Given the description of an element on the screen output the (x, y) to click on. 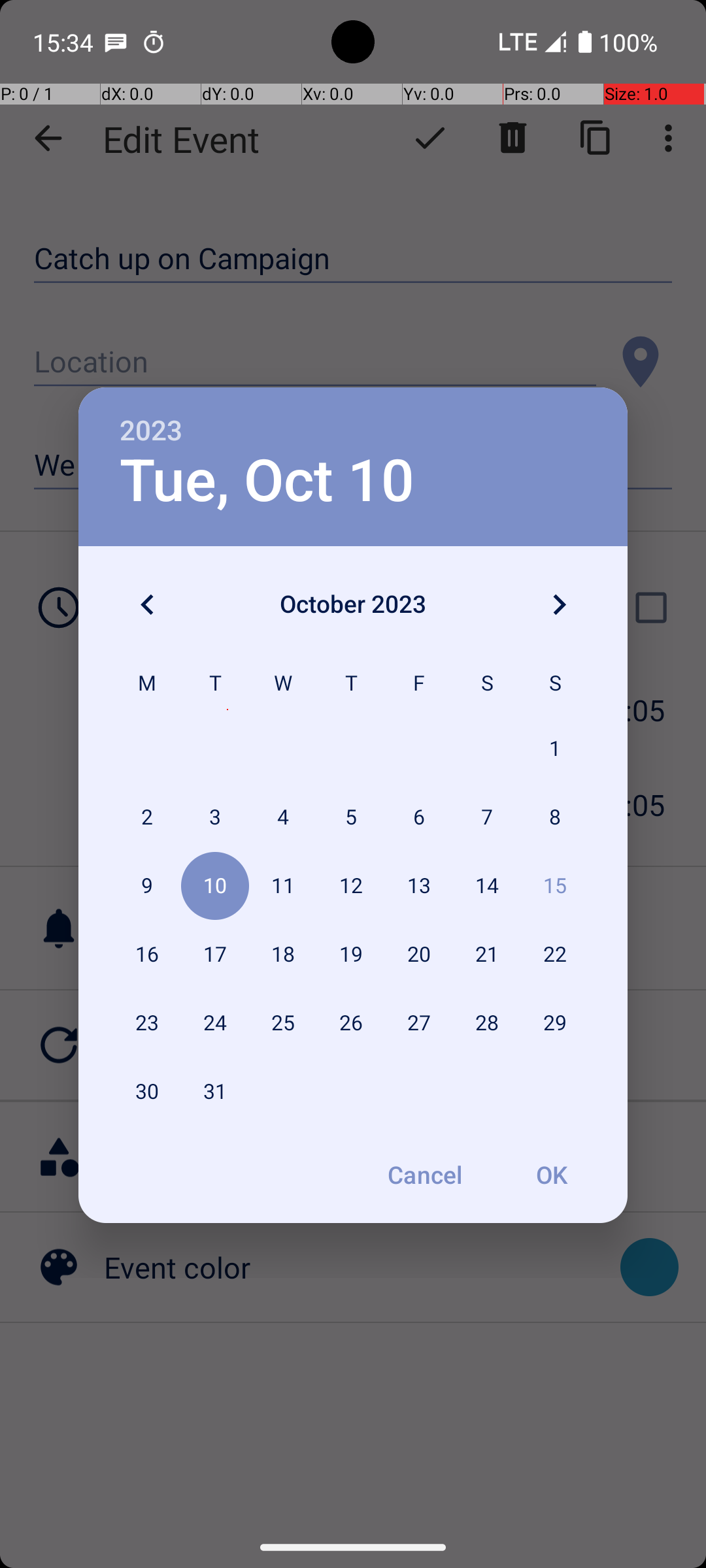
Tue, Oct 10 Element type: android.widget.TextView (267, 480)
